Given the description of an element on the screen output the (x, y) to click on. 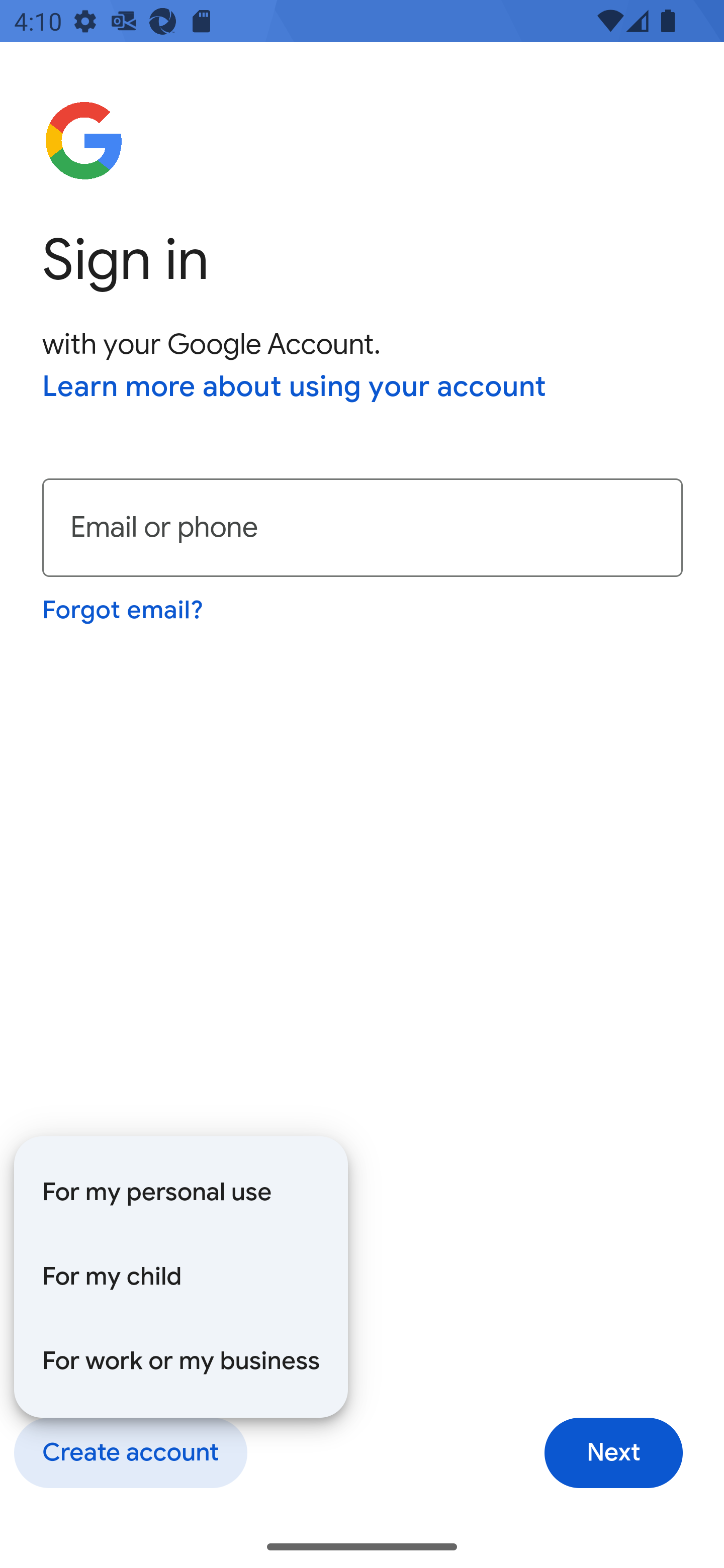
Learn more about using your account (294, 388)
Forgot email? (123, 609)
Next (613, 1453)
Create account (129, 1453)
